Given the description of an element on the screen output the (x, y) to click on. 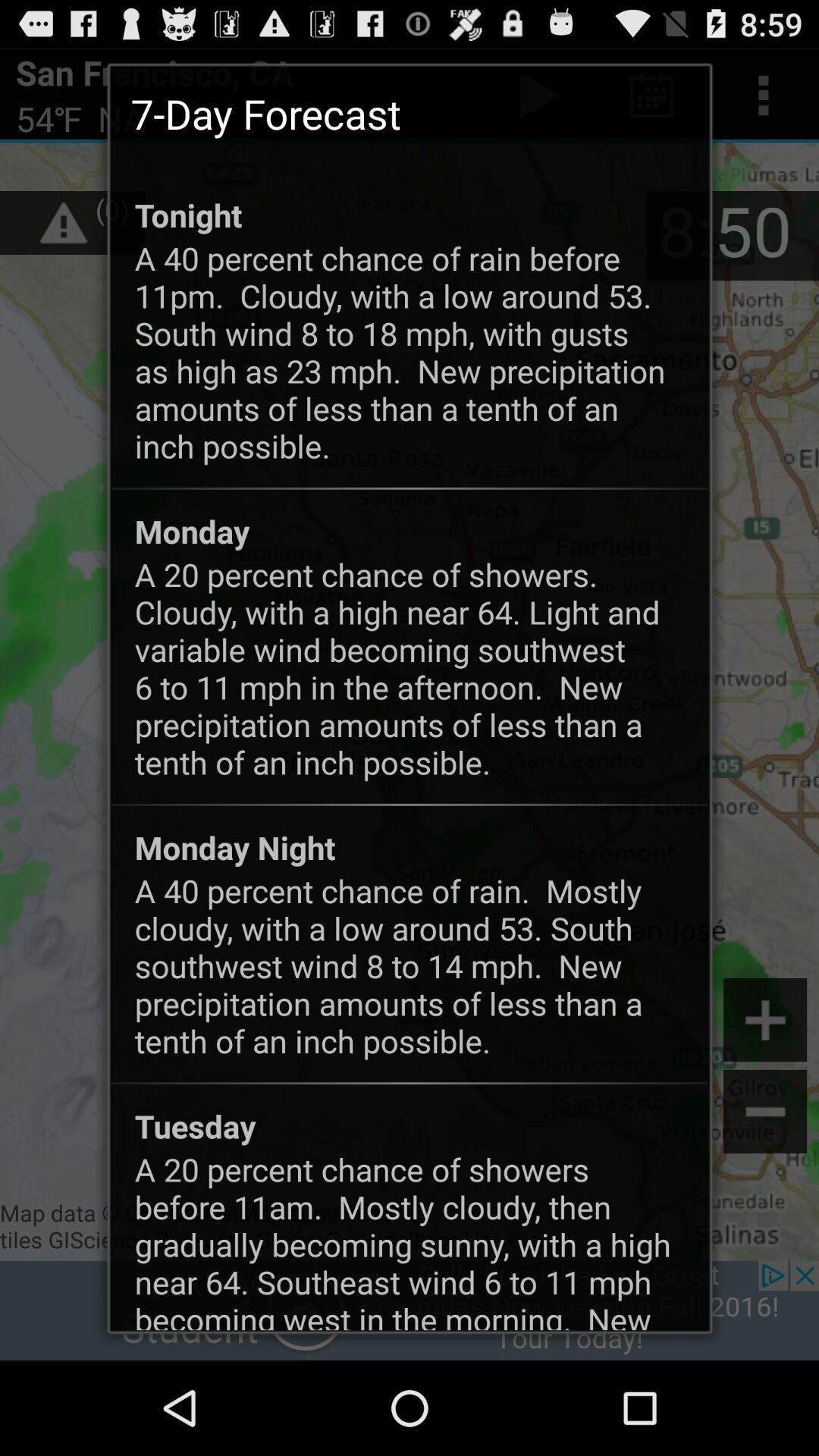
turn on tonight at the top left corner (188, 214)
